Given the description of an element on the screen output the (x, y) to click on. 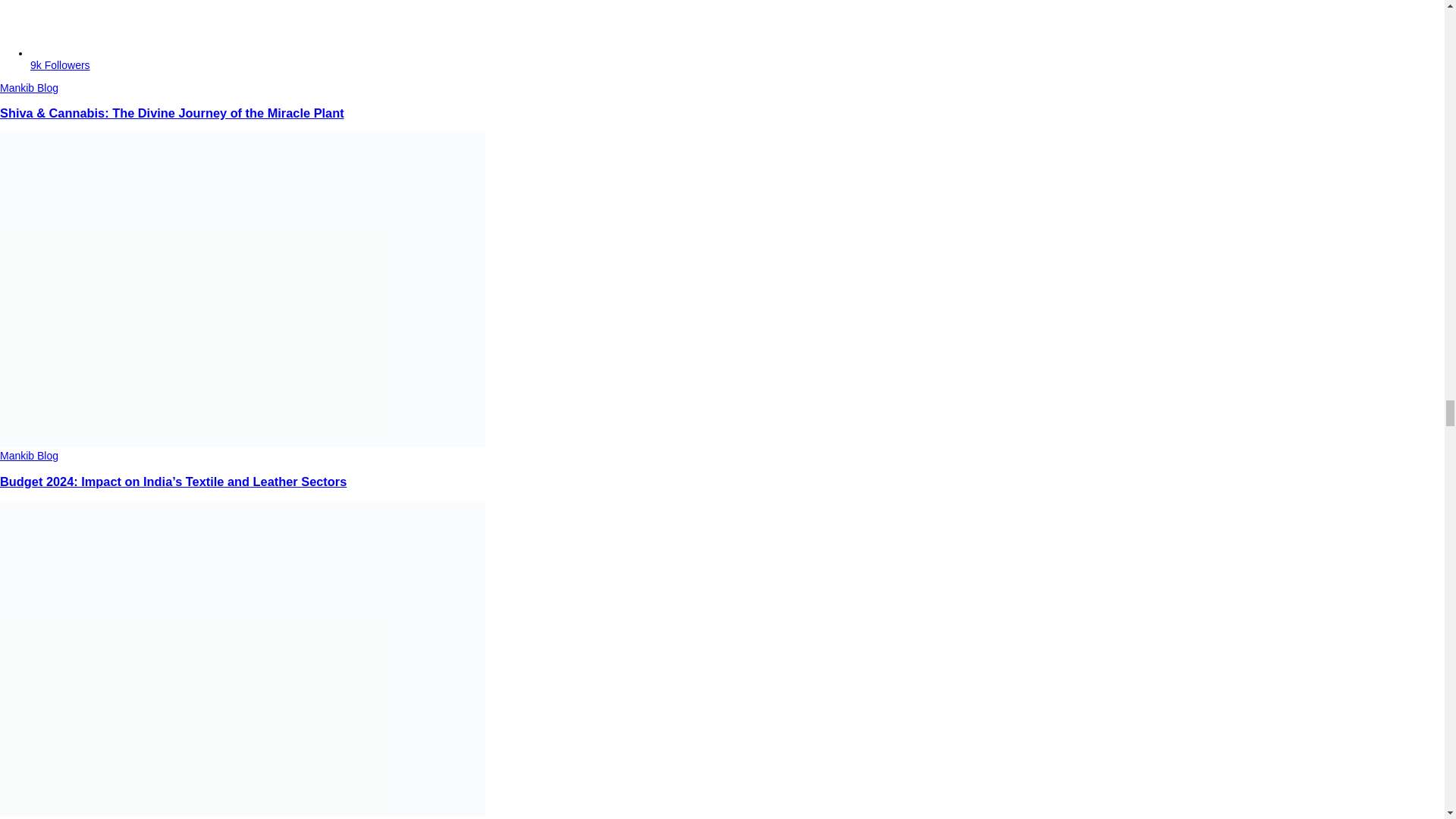
Mankib Blog (29, 87)
Mankib Blog (29, 818)
Mankib Blog (29, 455)
